Given the description of an element on the screen output the (x, y) to click on. 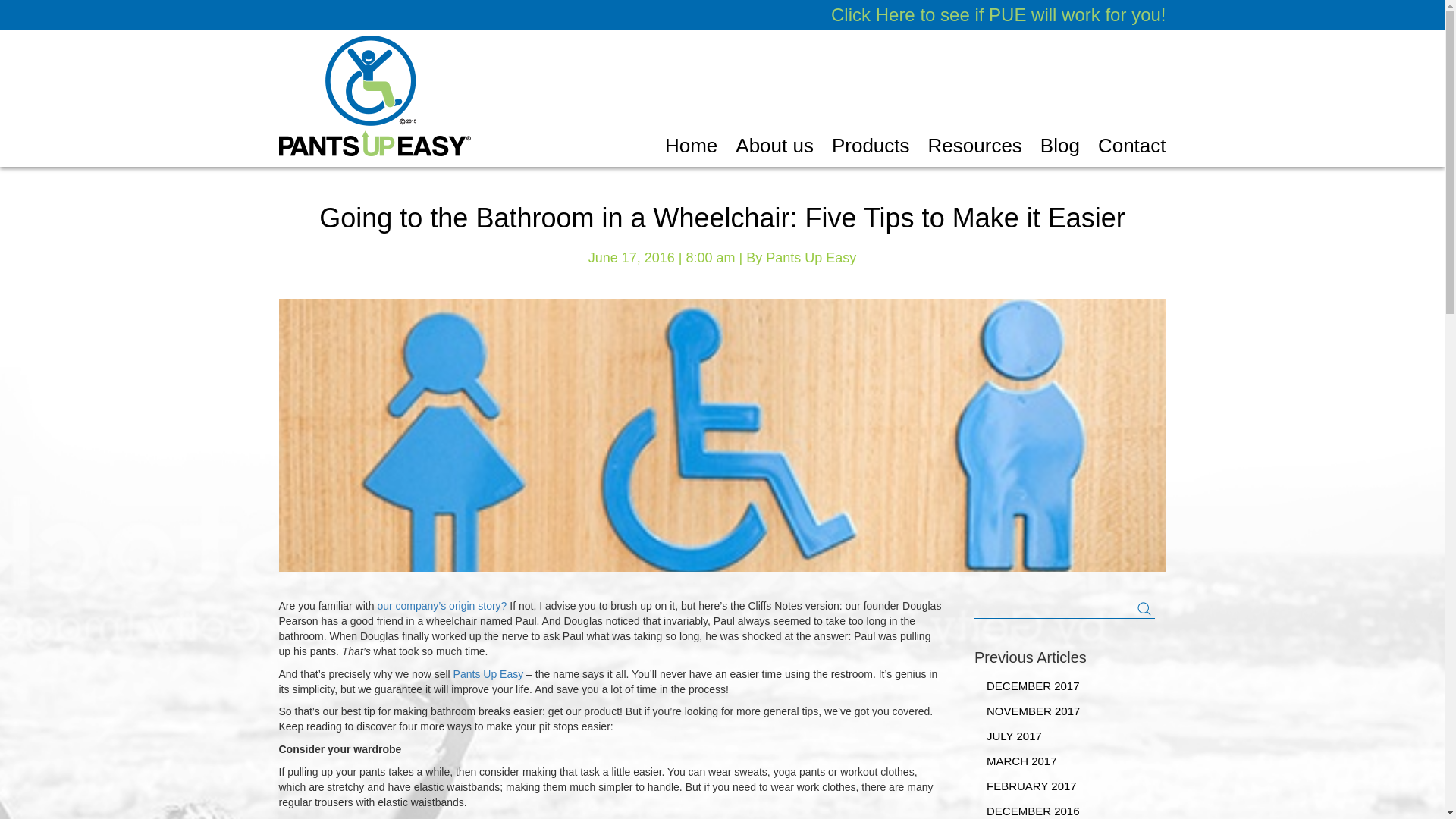
Search (1143, 608)
Pants Up Easy (488, 674)
Home (691, 150)
DECEMBER 2017 (1064, 685)
About us (774, 150)
Products (870, 150)
FEBRUARY 2017 (1064, 785)
DECEMBER 2016 (1064, 808)
Blog (1059, 150)
Search (1143, 608)
